Given the description of an element on the screen output the (x, y) to click on. 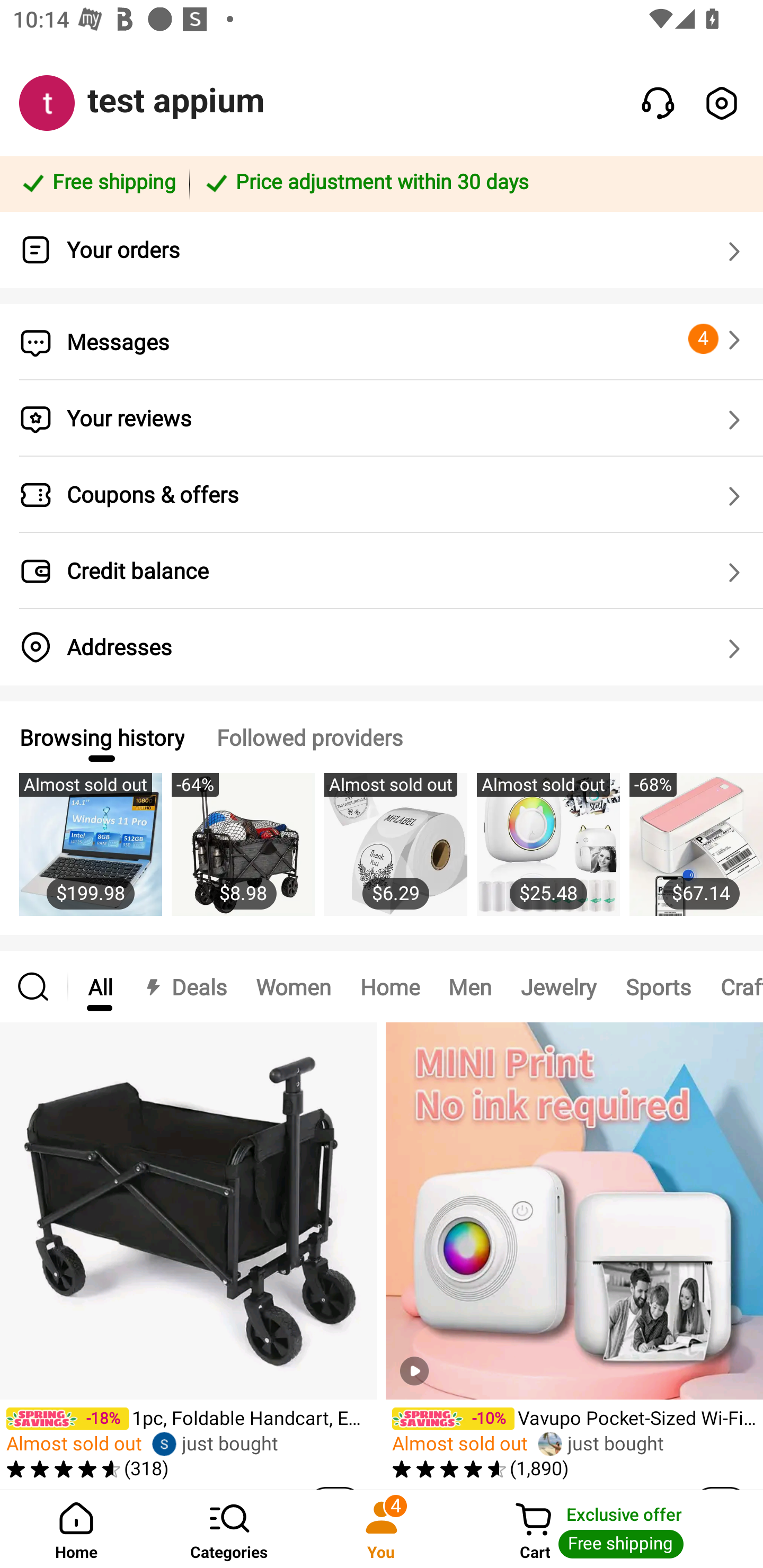
test appium (175, 100)
Free shipping (97, 183)
Price adjustment within 30 days (472, 183)
Your orders (381, 249)
Messages 4 (381, 342)
4 (717, 339)
Your reviews (381, 418)
Coupons & offers (381, 494)
Credit balance (381, 571)
Addresses (381, 647)
Browsing history (101, 736)
Followed providers (308, 736)
Almost sold out $199.98 (90, 853)
-64% $8.98 (242, 853)
Almost sold out $6.29 (395, 853)
Almost sold out $25.48 (547, 853)
-68% $67.14 (696, 853)
All (99, 986)
Deals Deals Deals (183, 986)
Women (293, 986)
Home (389, 986)
Men (469, 986)
Jewelry (558, 986)
Sports (658, 986)
Crafts (734, 986)
Home (76, 1528)
Categories (228, 1528)
You 4 You (381, 1528)
Cart Cart Exclusive offer (610, 1528)
